Given the description of an element on the screen output the (x, y) to click on. 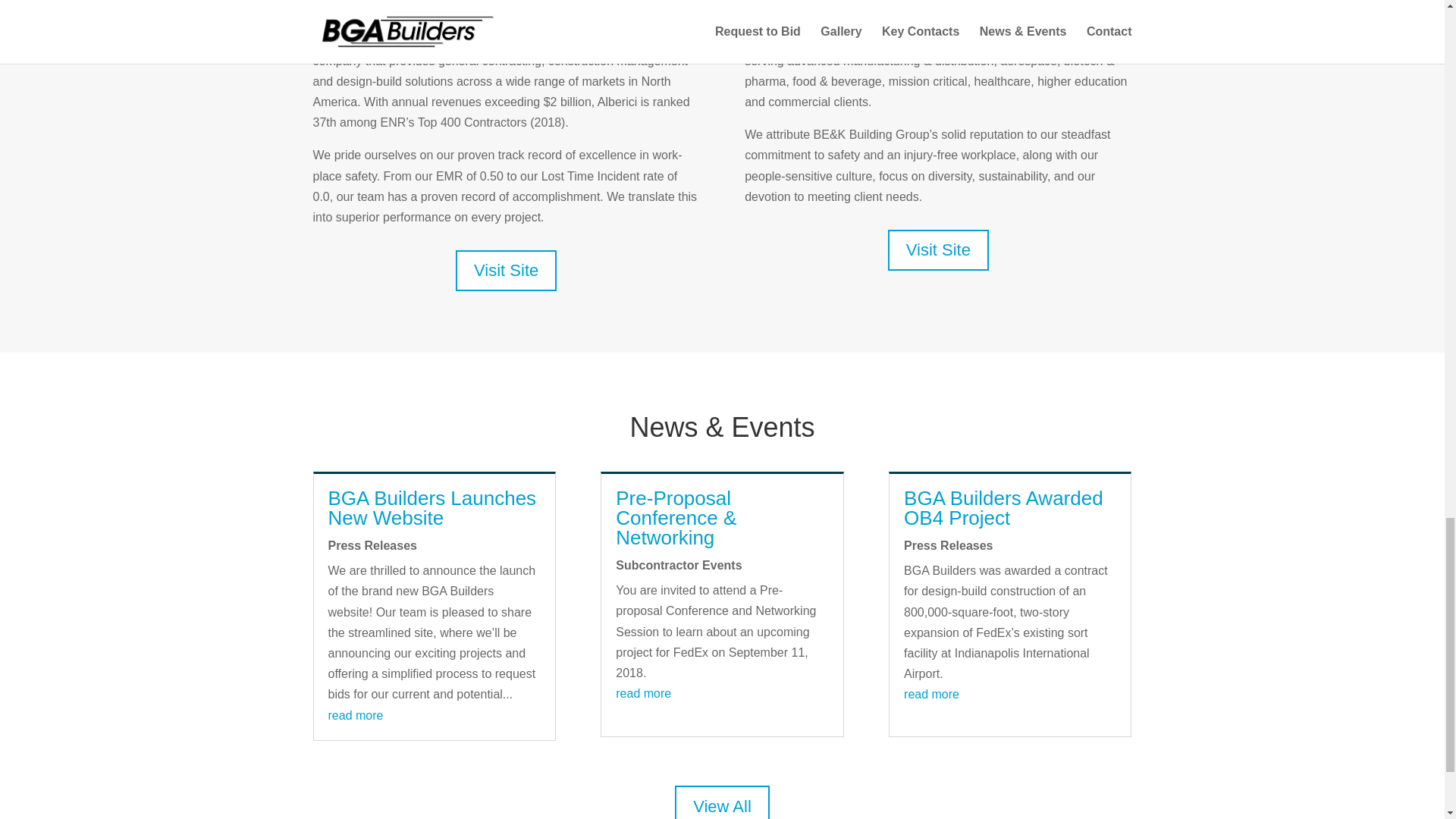
Visit Site (938, 250)
read more (643, 693)
Press Releases (948, 545)
View All (722, 802)
Visit Site (505, 270)
BGA Builders Awarded OB4 Project (1003, 507)
read more (354, 715)
read more (931, 694)
Subcontractor Events (678, 564)
BGA Builders Launches New Website (431, 507)
Press Releases (371, 545)
